Given the description of an element on the screen output the (x, y) to click on. 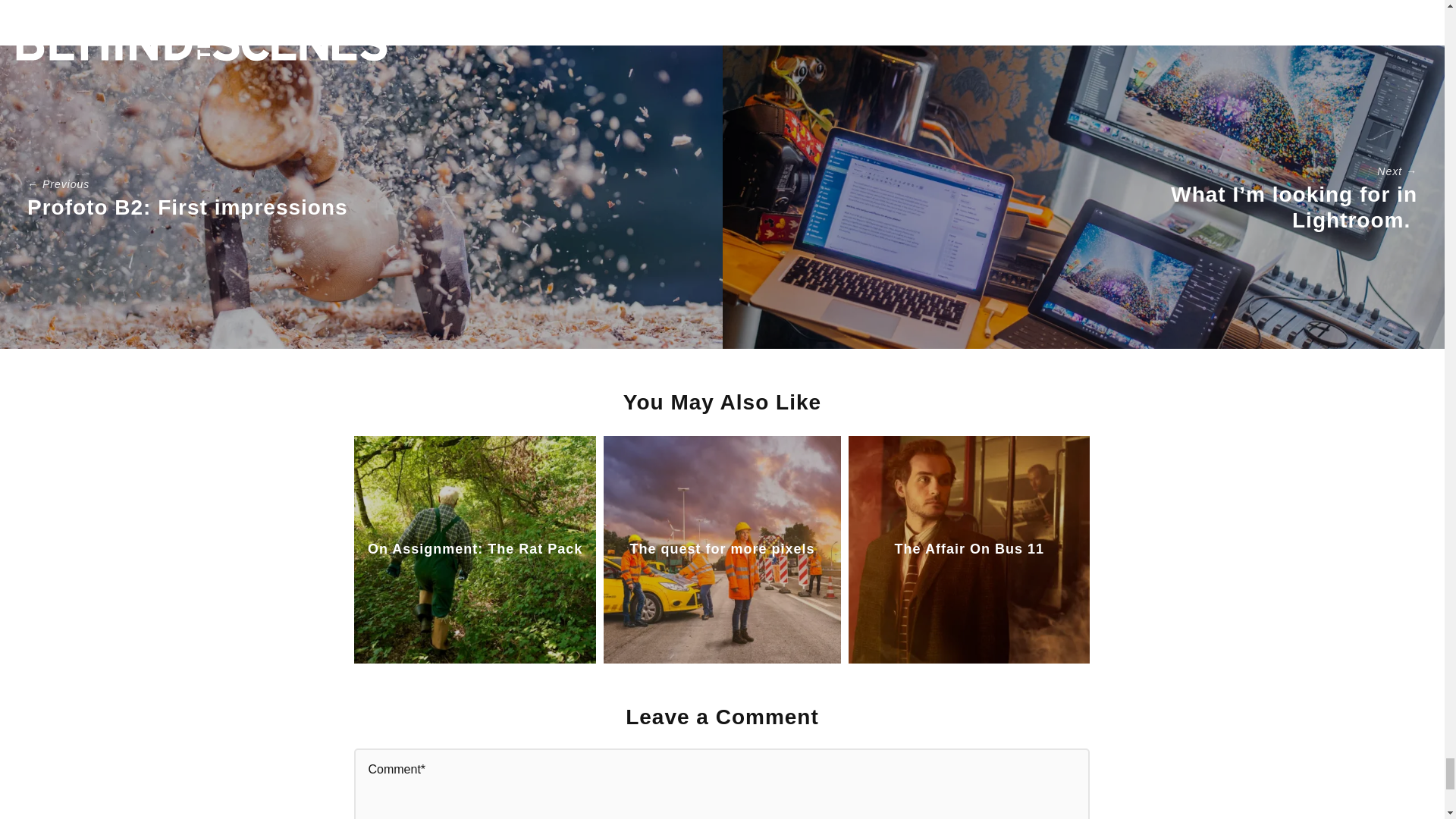
The Affair On Bus 11 (969, 549)
The quest for more pixels (720, 549)
On Assignment: The Rat Pack (475, 549)
